Given the description of an element on the screen output the (x, y) to click on. 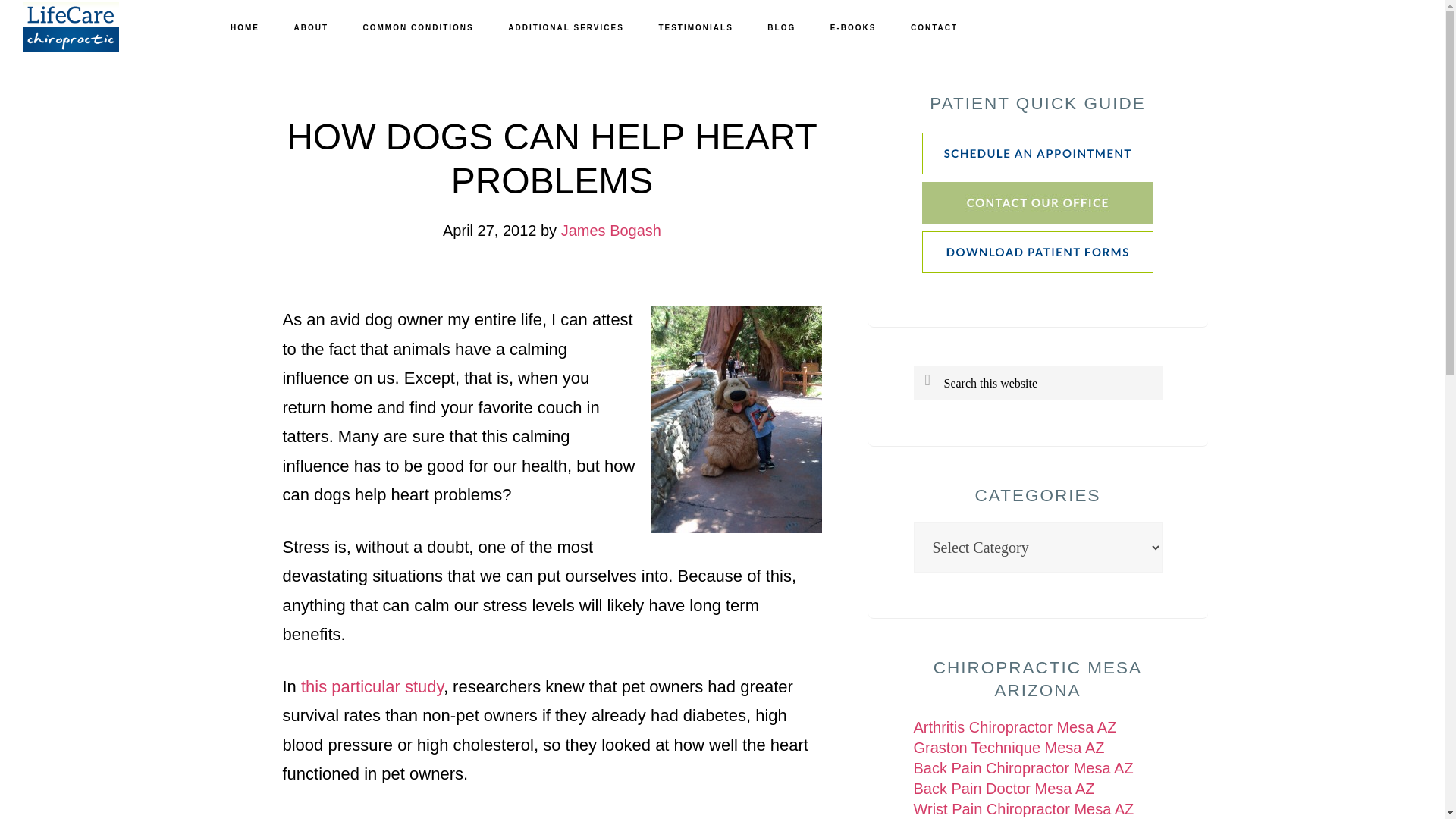
LIFECARE CHIROPRACTIC (98, 26)
CONTACT (933, 27)
Download Patient Forms (1038, 269)
Arthritis Chiropractor Mesa AZ (1014, 727)
HOME (245, 27)
Contact Our Office (1037, 217)
Dogs can help with heart problems (735, 419)
BLOG (781, 27)
Dogs can help heart problems (372, 686)
Wrist Pain Chiropractor Mesa AZ (1023, 808)
ADDITIONAL SERVICES (566, 27)
Lifecare Chiropractic Home (245, 27)
E-BOOKS (853, 27)
